Given the description of an element on the screen output the (x, y) to click on. 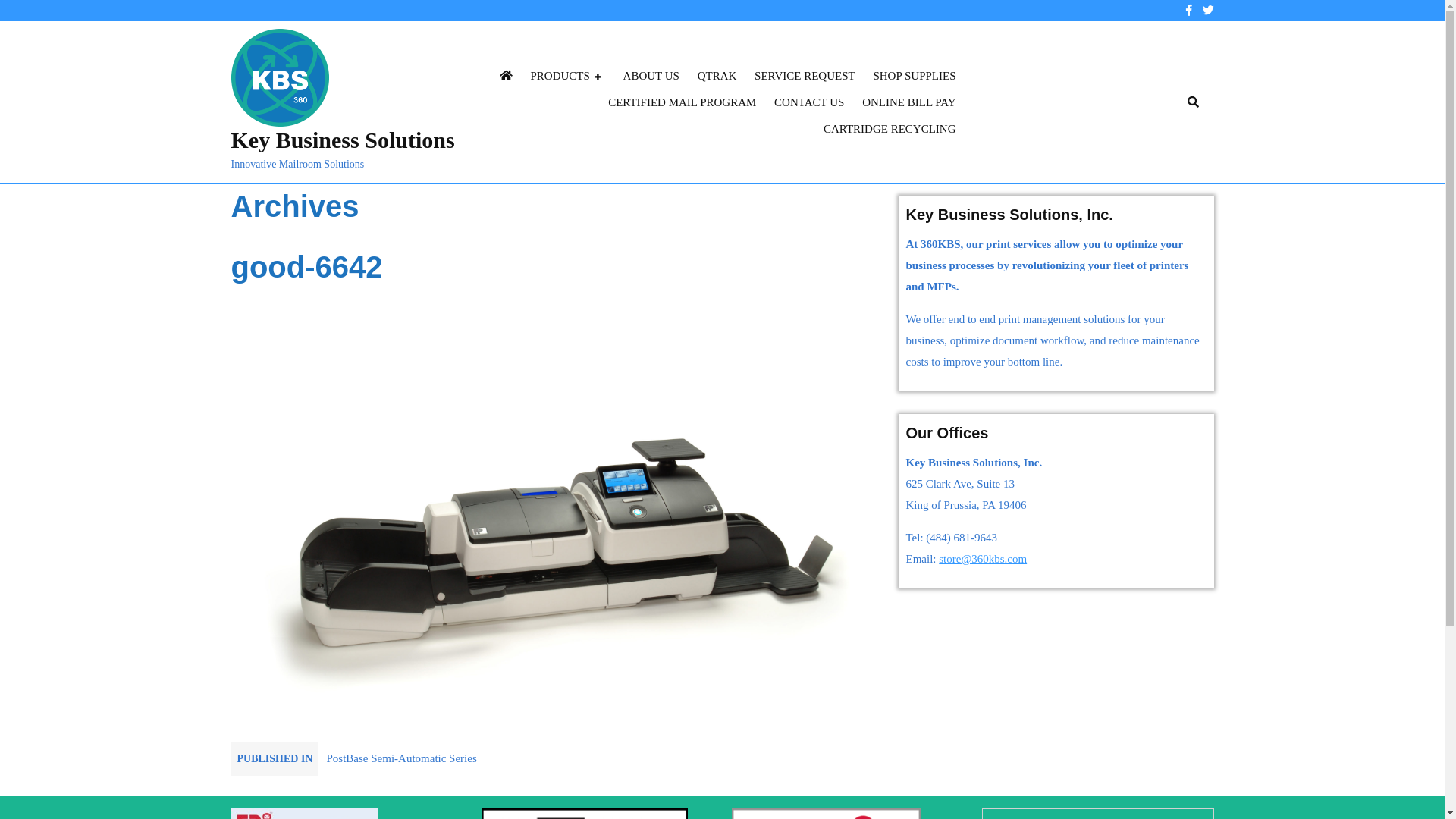
QTRAK Element type: text (717, 75)
PUBLISHED INPostBase Semi-Automatic Series Element type: text (353, 759)
SHOP SUPPLIES Element type: text (914, 75)
store@360kbs.com Element type: text (982, 558)
PRODUCTS Element type: text (567, 75)
Key Business Solutions Element type: text (342, 139)
CERTIFIED MAIL PROGRAM Element type: text (681, 102)
ABOUT US Element type: text (651, 75)
CONTACT US Element type: text (808, 102)
ONLINE BILL PAY Element type: text (908, 102)
SERVICE REQUEST Element type: text (804, 75)
CARTRIDGE RECYCLING Element type: text (889, 128)
